Given the description of an element on the screen output the (x, y) to click on. 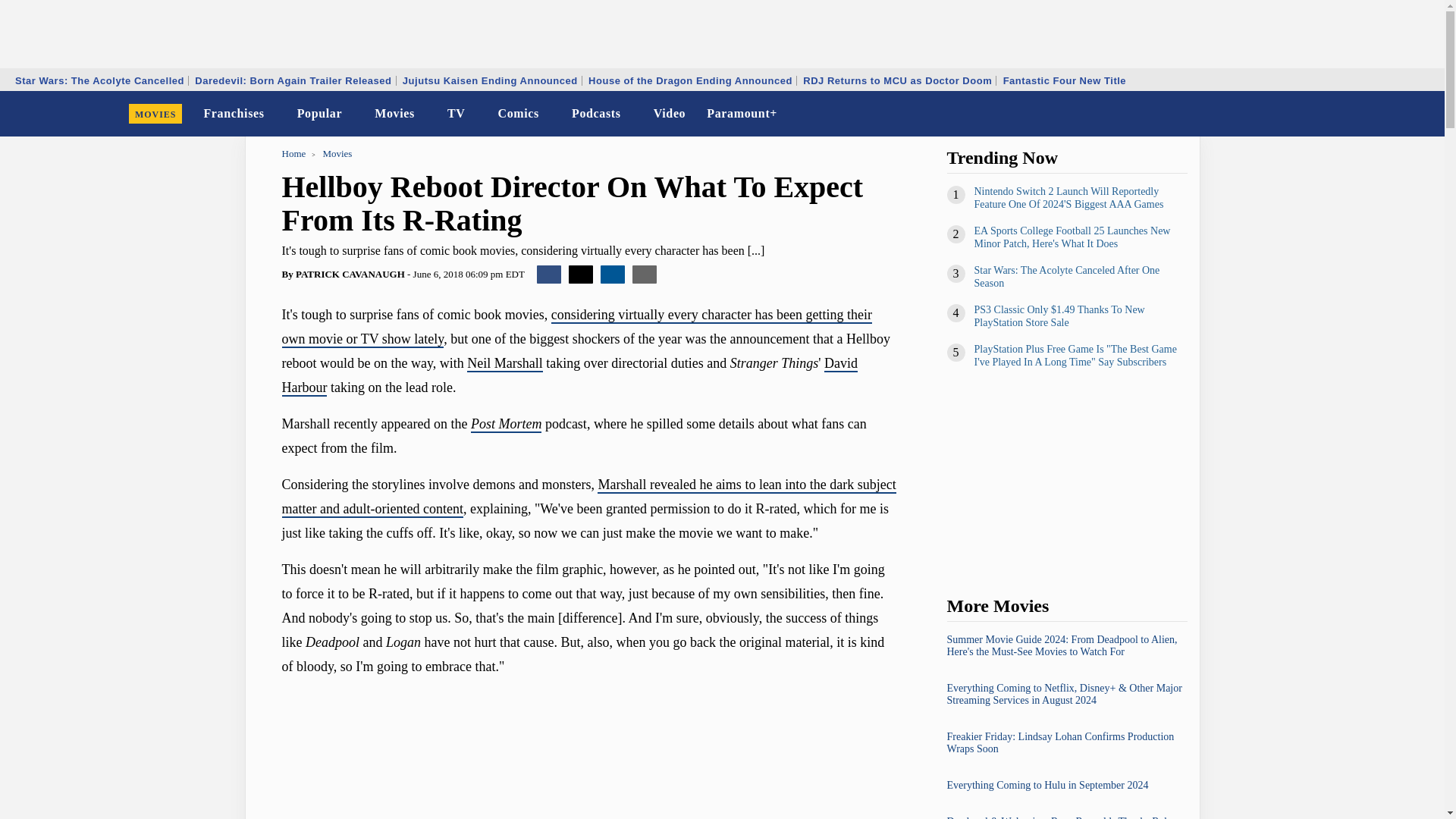
Jujutsu Kaisen Ending Announced (489, 80)
Daredevil: Born Again Trailer Released (292, 80)
Dark Mode (1394, 113)
Popular (320, 113)
Movies (394, 113)
Search (1422, 114)
MOVIES (155, 113)
Star Wars: The Acolyte Cancelled (99, 80)
RDJ Returns to MCU as Doctor Doom (897, 80)
House of the Dragon Ending Announced (690, 80)
